Given the description of an element on the screen output the (x, y) to click on. 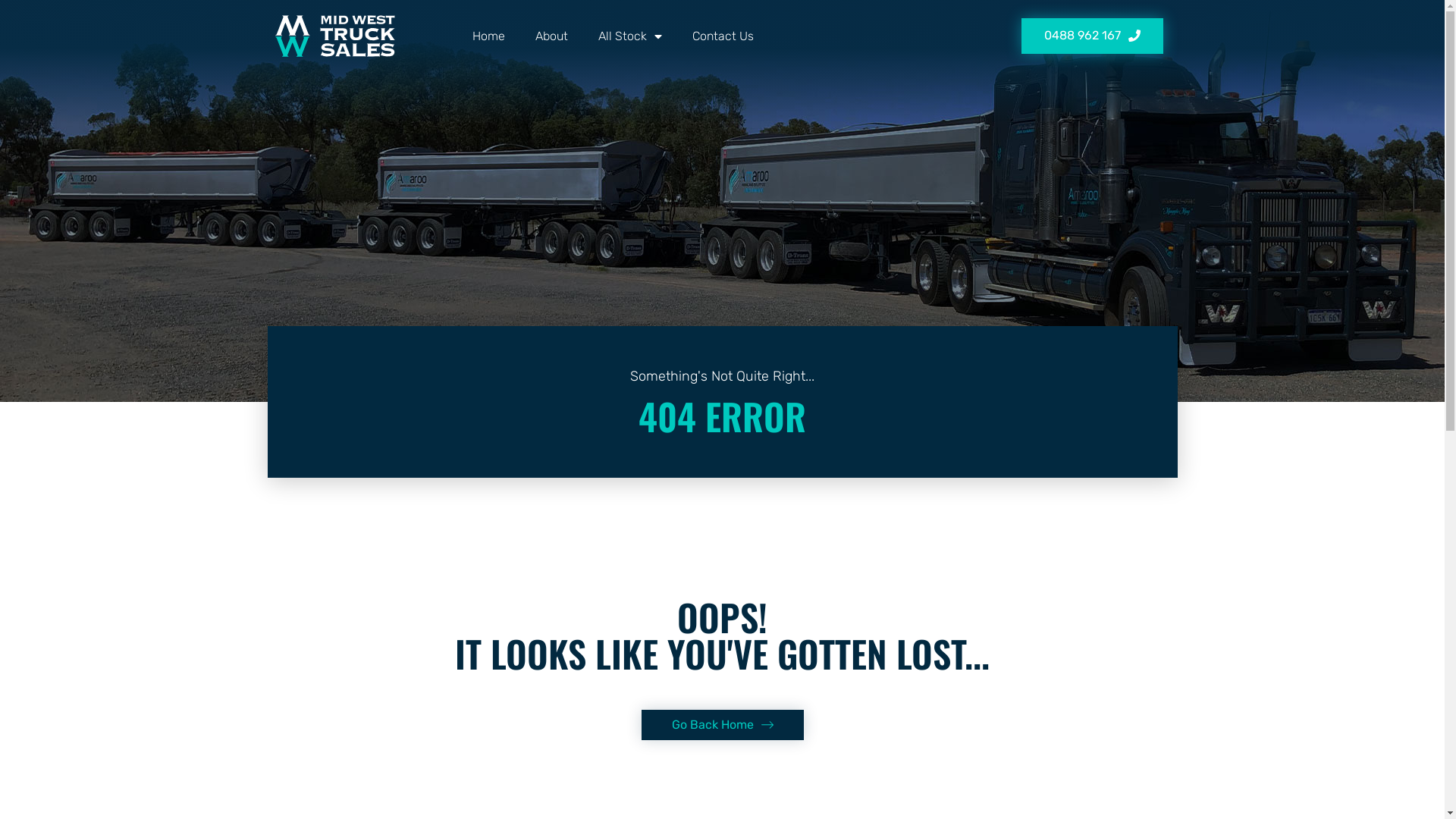
0488 962 167 Element type: text (1092, 35)
Home Element type: text (487, 35)
Arrow-Icon-Size3
Go Back Home Element type: text (722, 724)
Contact Us Element type: text (722, 35)
About Element type: text (551, 35)
All Stock Element type: text (629, 35)
